Given the description of an element on the screen output the (x, y) to click on. 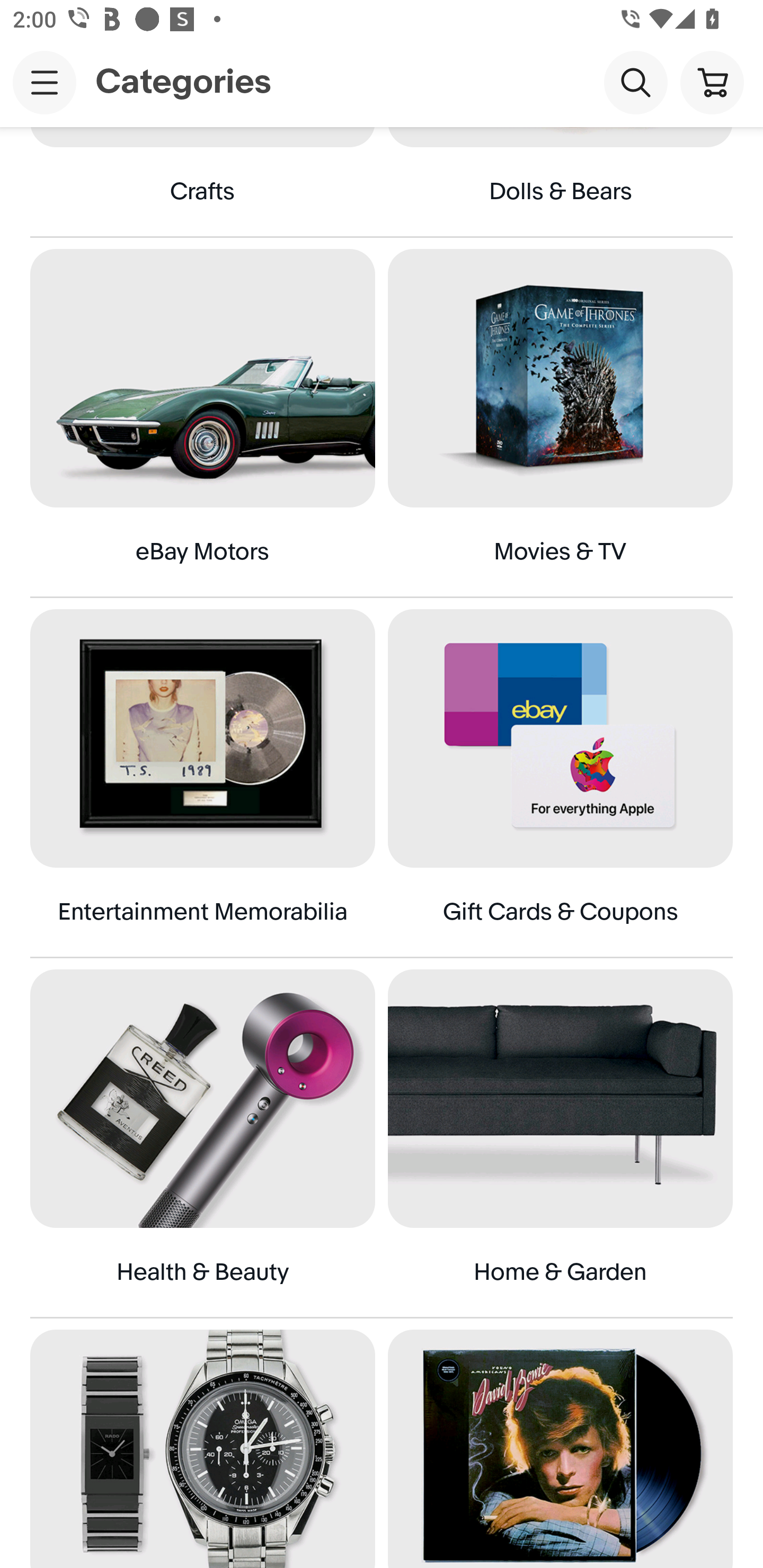
Main navigation, open (44, 82)
Search (635, 81)
Cart button shopping cart (711, 81)
eBay Motors (202, 422)
Movies & TV (559, 422)
Entertainment Memorabilia (202, 782)
Gift Cards & Coupons (559, 782)
Health & Beauty (202, 1143)
Home & Garden (559, 1143)
